Given the description of an element on the screen output the (x, y) to click on. 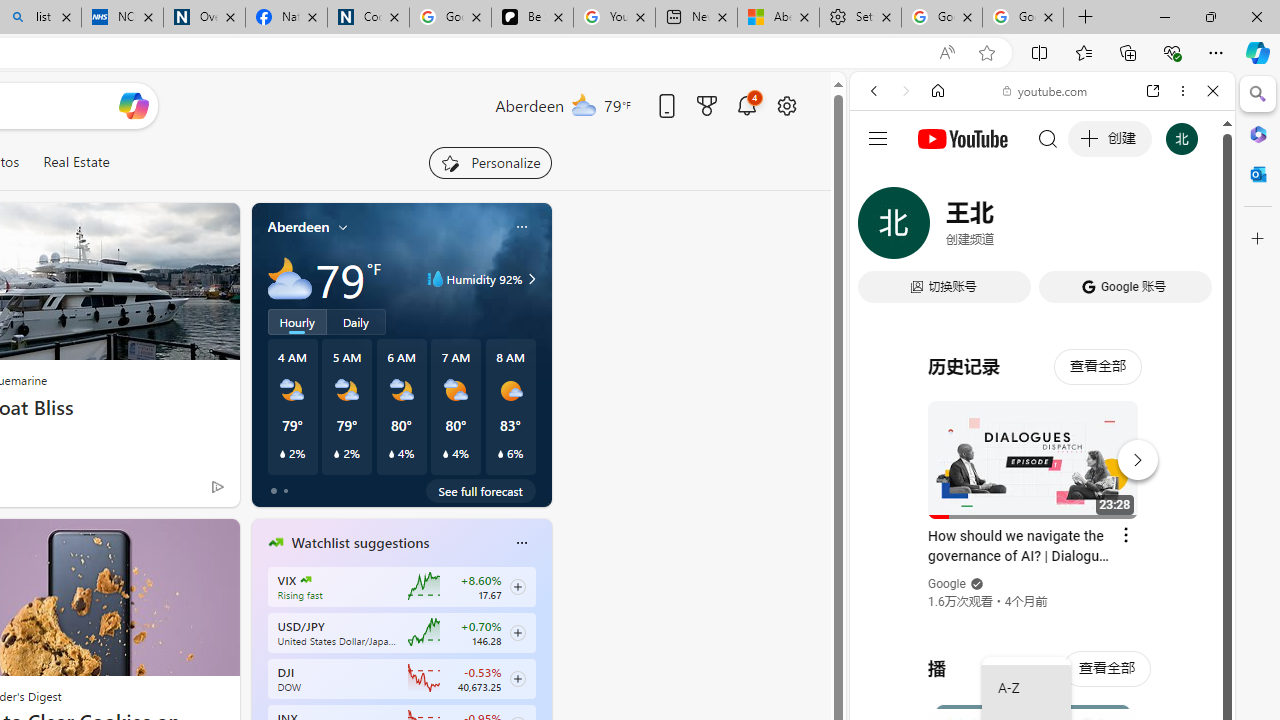
Personalize your feed" (489, 162)
Real Estate (75, 162)
